Given the description of an element on the screen output the (x, y) to click on. 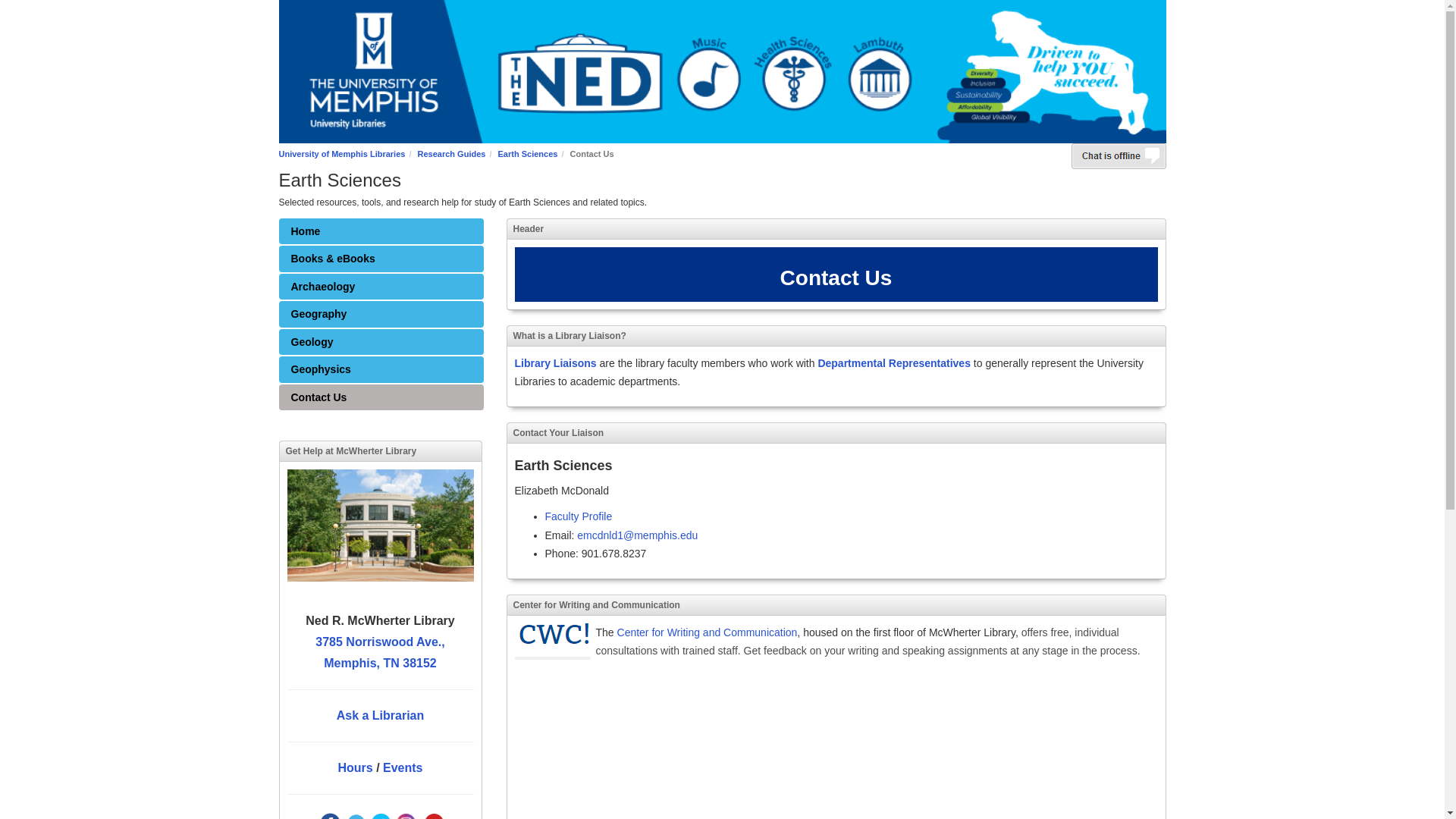
Research Guides (451, 153)
Events (402, 767)
Geophysics (381, 369)
Hours (354, 767)
Library Liaisons (554, 363)
Archaeology (381, 286)
Departmental Representatives (893, 363)
Geology (381, 342)
Home (381, 231)
Ask a Librarian (380, 715)
3785 Norriswood Ave., Memphis, TN 38152 (379, 652)
Center for Writing and Communication (707, 632)
Earth Sciences (527, 153)
University of Memphis Libraries (342, 153)
